Given the description of an element on the screen output the (x, y) to click on. 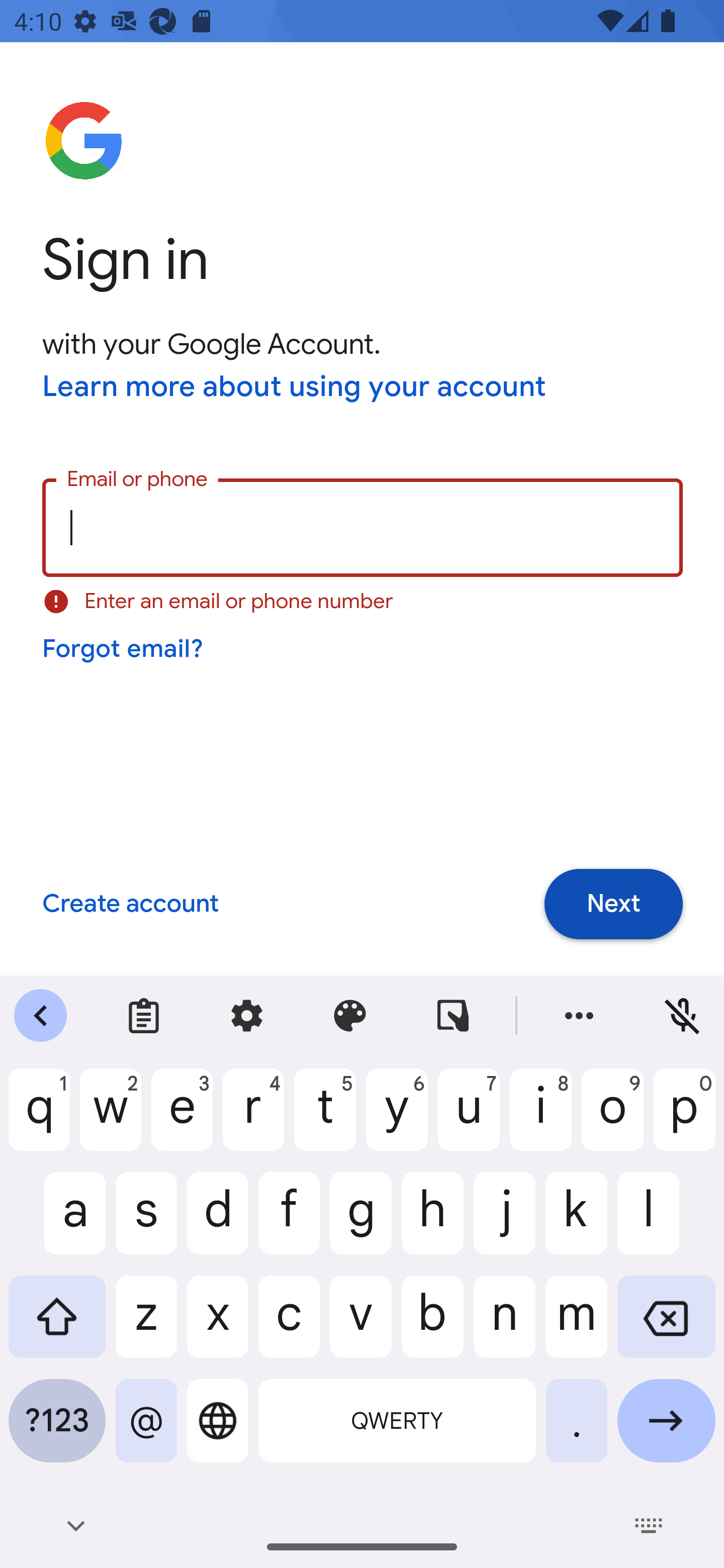
Learn more about using your account (294, 388)
Forgot email? (123, 648)
Next (613, 903)
Create account (129, 904)
